Given the description of an element on the screen output the (x, y) to click on. 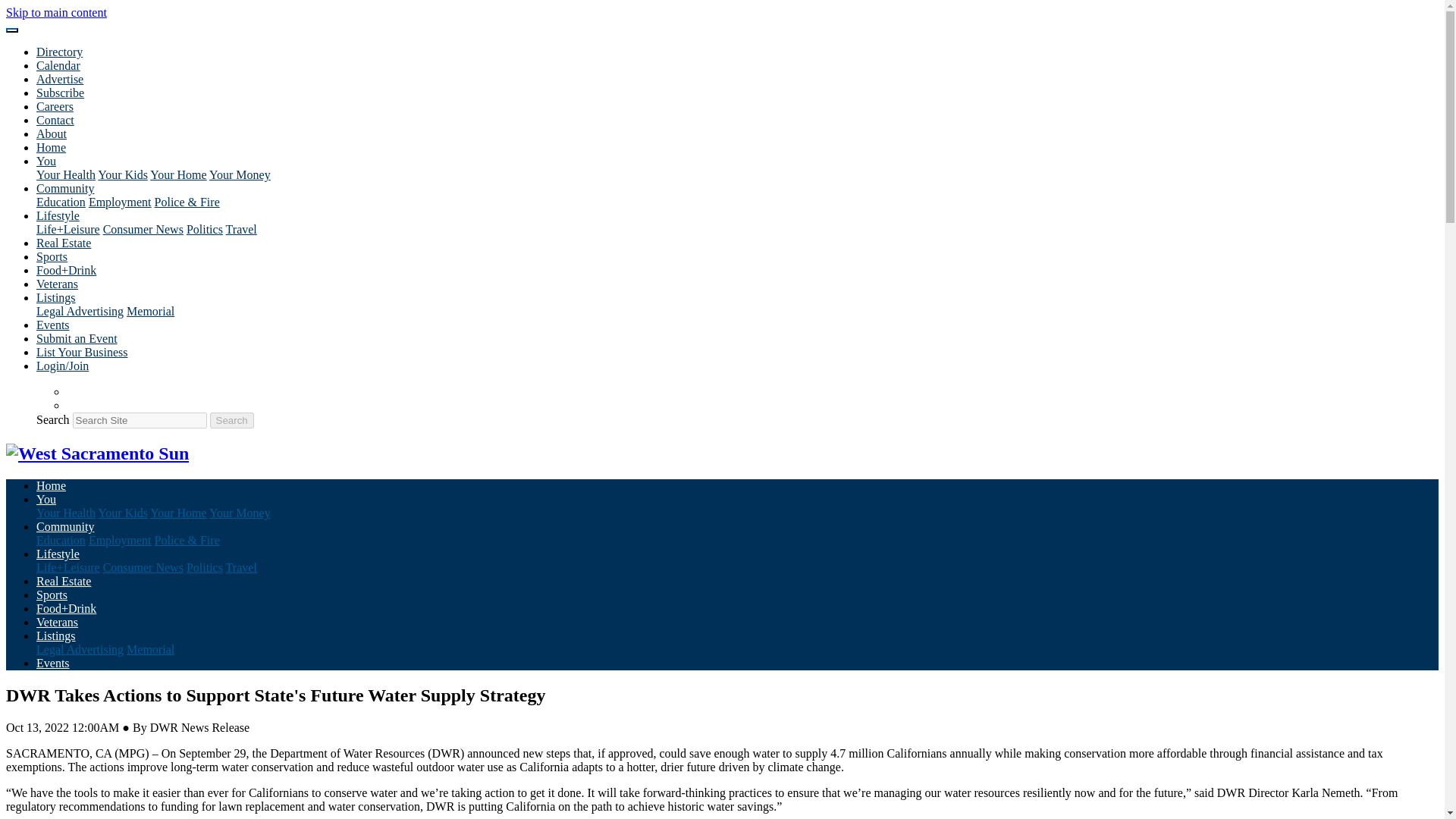
Travel (241, 228)
Skip to main content (55, 11)
Careers (55, 106)
Your Home (177, 174)
Real Estate (63, 242)
You (46, 160)
Search (231, 420)
Education (60, 201)
Community (65, 187)
Legal Advertising (79, 310)
